Given the description of an element on the screen output the (x, y) to click on. 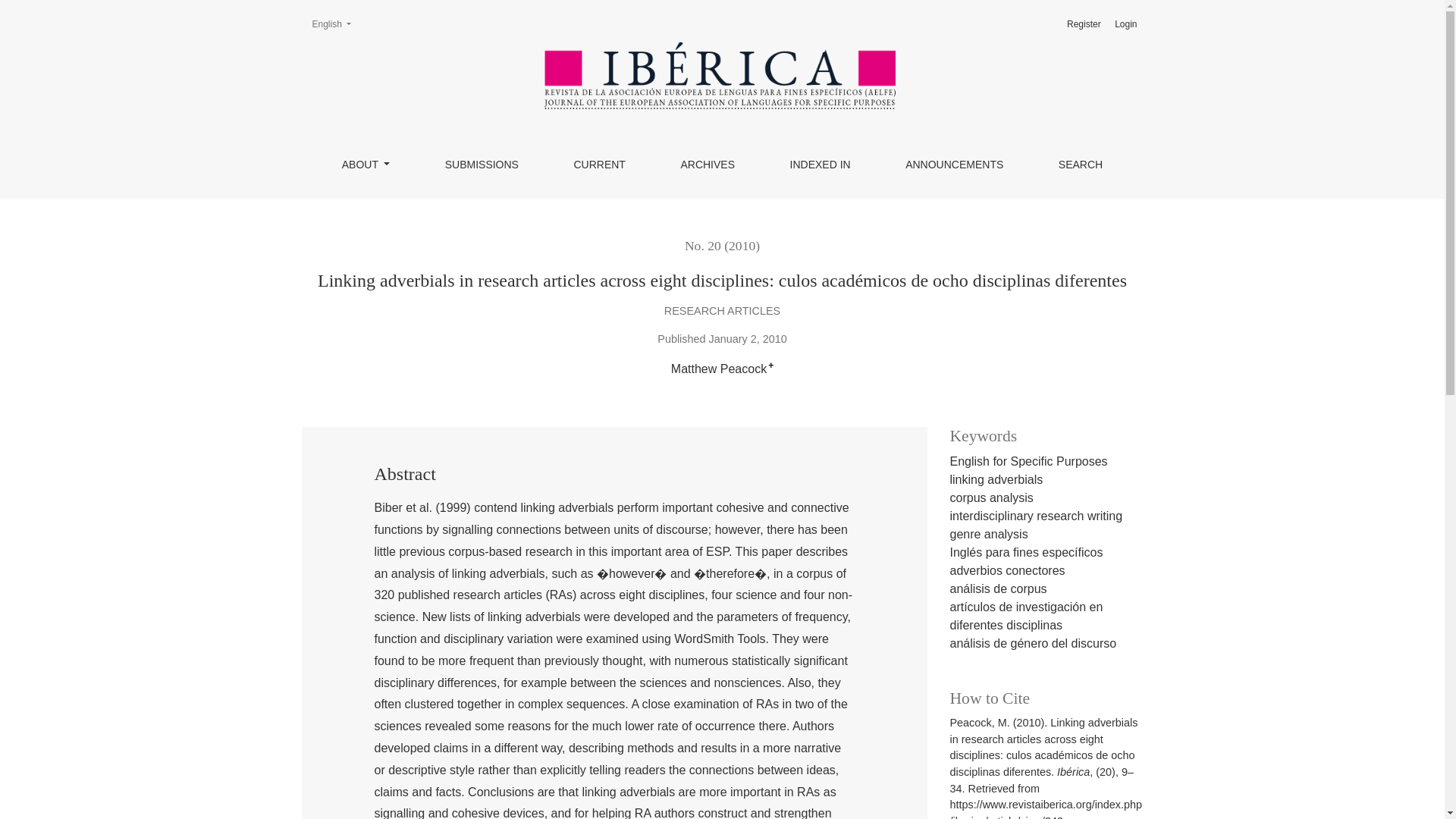
CURRENT (598, 164)
ABOUT (366, 164)
Register (1083, 24)
SEARCH (1080, 164)
Login (1125, 24)
SUBMISSIONS (481, 164)
INDEXED IN (820, 164)
ANNOUNCEMENTS (331, 24)
ARCHIVES (954, 164)
